Given the description of an element on the screen output the (x, y) to click on. 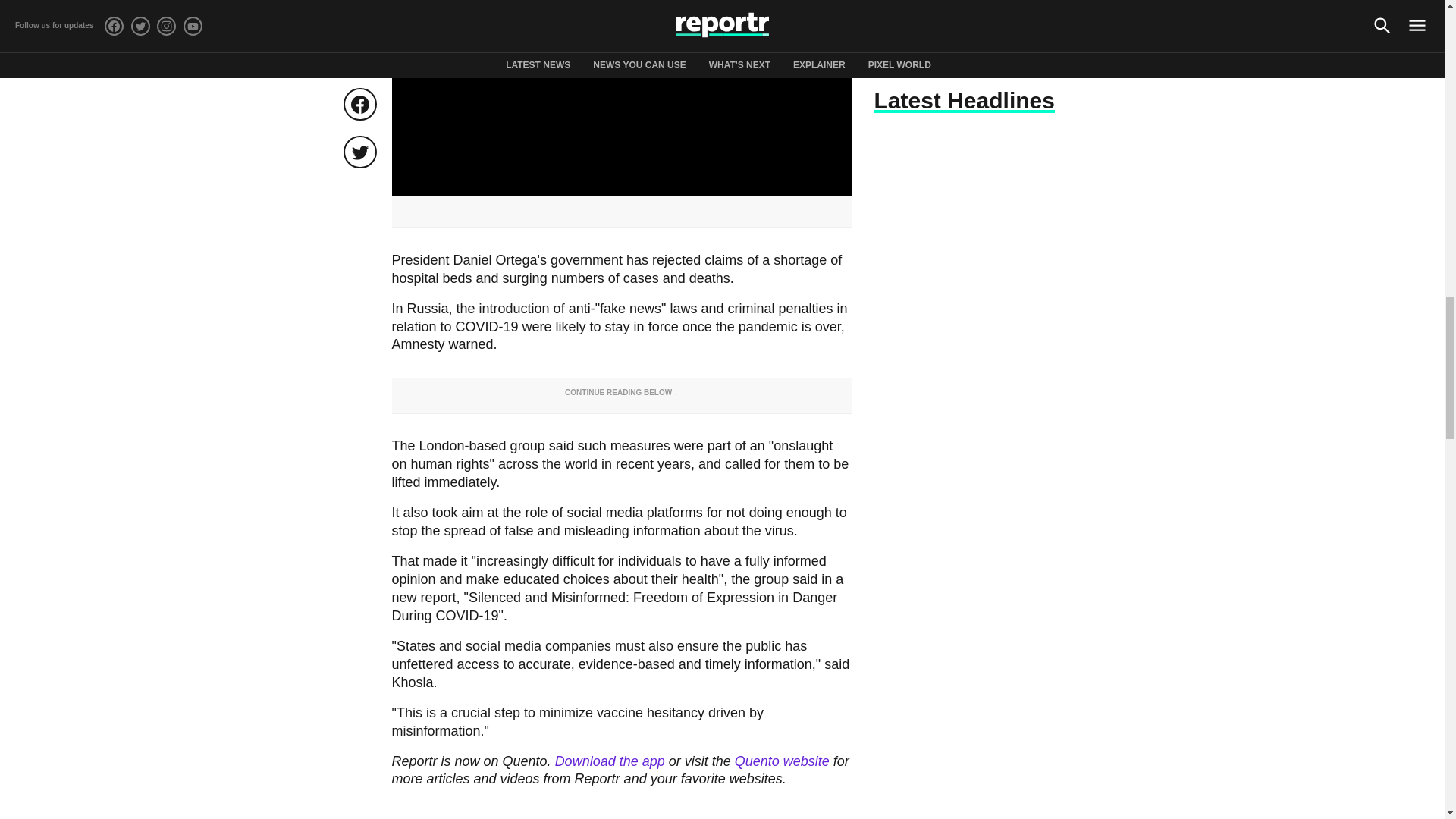
Download the app (609, 761)
Quento website (782, 761)
